Given the description of an element on the screen output the (x, y) to click on. 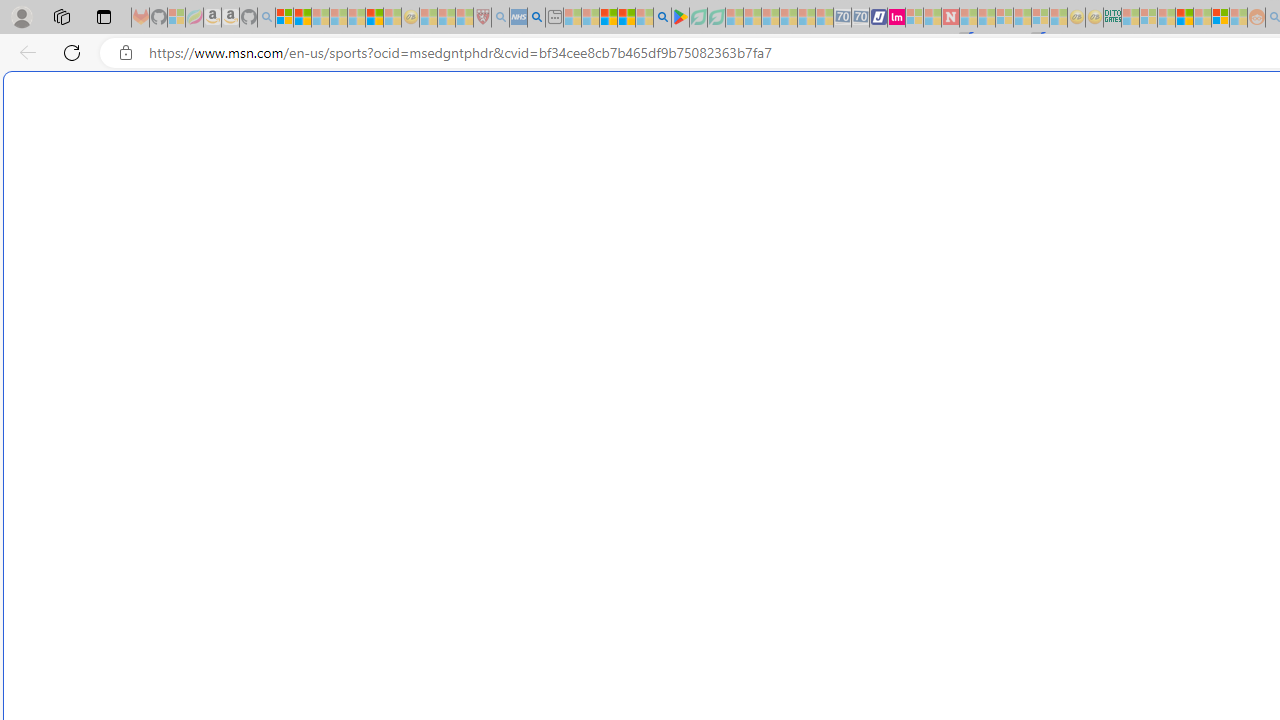
Pets - MSN (626, 17)
Bluey: Let's Play! - Apps on Google Play (680, 17)
utah sues federal government - Search (536, 17)
Jobs - lastminute.com Investor Portal (896, 17)
